Given the description of an element on the screen output the (x, y) to click on. 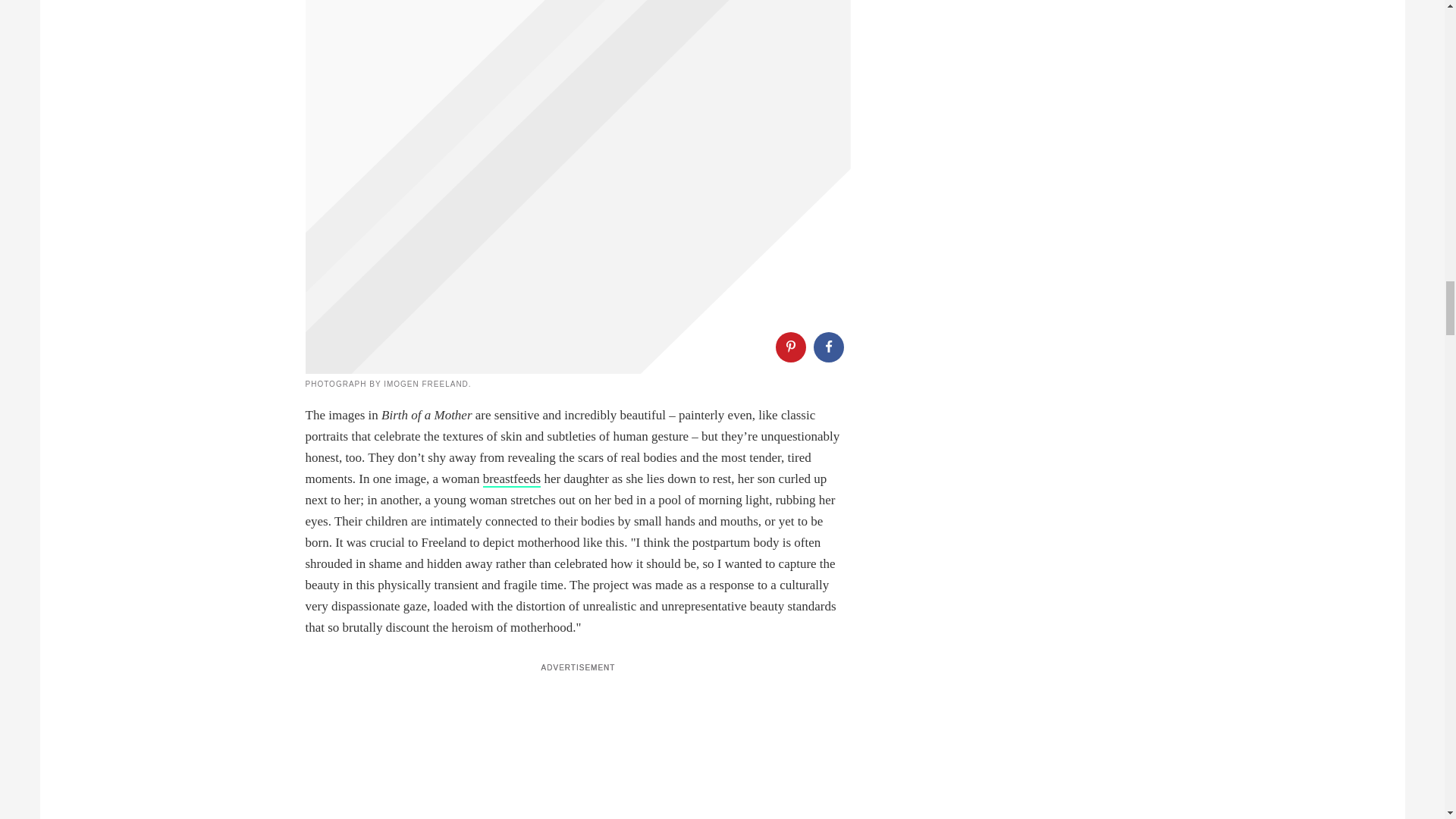
Share on Pinterest (789, 347)
Share on Facebook (827, 347)
breastfeeds (511, 479)
